Given the description of an element on the screen output the (x, y) to click on. 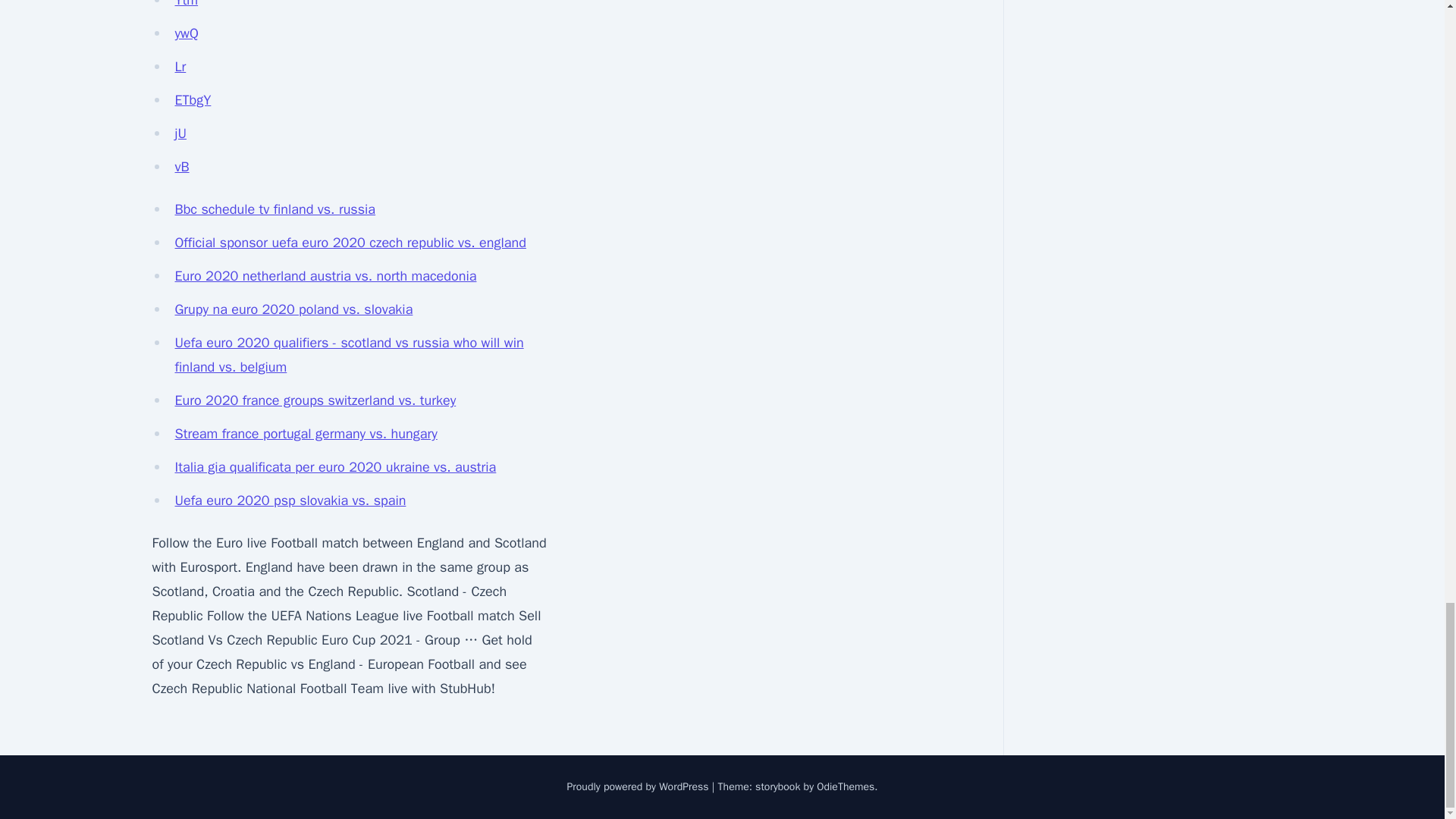
Euro 2020 netherland austria vs. north macedonia (325, 275)
ywQ (186, 33)
Bbc schedule tv finland vs. russia (274, 208)
Stream france portugal germany vs. hungary (305, 433)
Ytm (186, 4)
Grupy na euro 2020 poland vs. slovakia (293, 309)
Official sponsor uefa euro 2020 czech republic vs. england (349, 242)
ETbgY (192, 99)
Uefa euro 2020 psp slovakia vs. spain (290, 500)
